Given the description of an element on the screen output the (x, y) to click on. 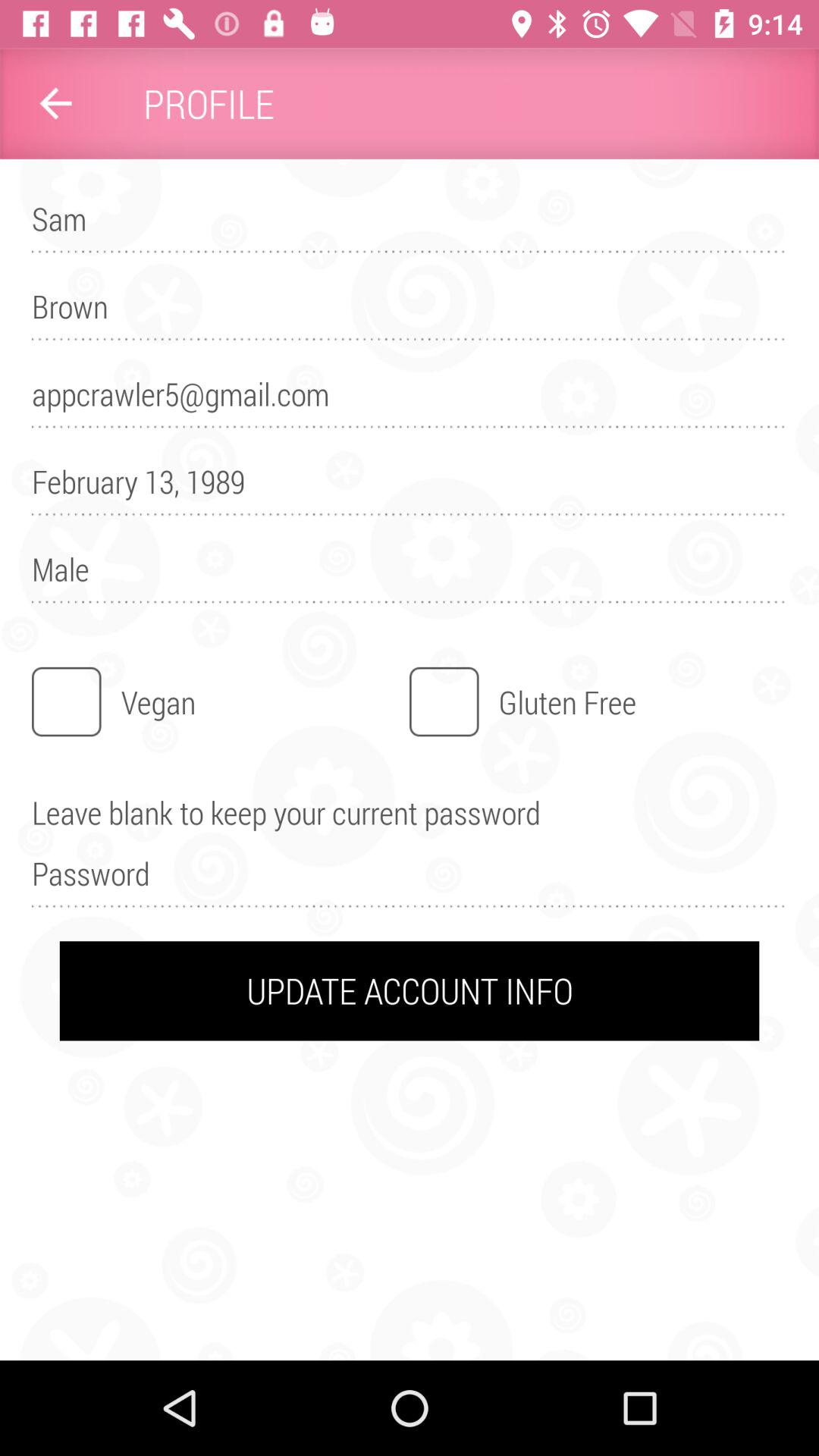
click brown (409, 313)
